Given the description of an element on the screen output the (x, y) to click on. 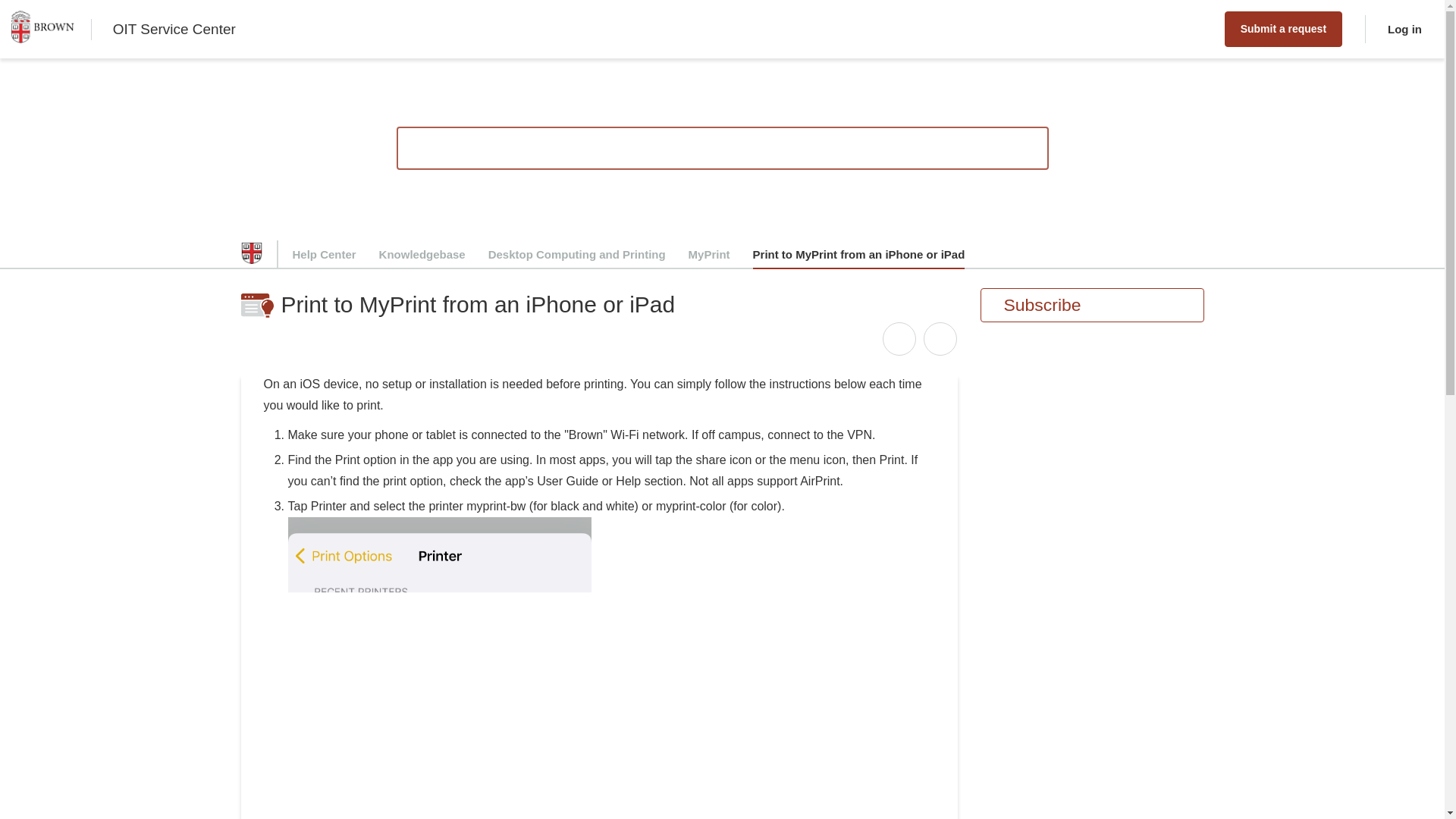
Submit a request (1283, 28)
MyPrint (709, 254)
Subscribe (1091, 305)
Knowledgebase (421, 254)
Desktop Computing and Printing (576, 254)
OIT Service Center (174, 29)
Help Center (324, 254)
Print to MyPrint from an iPhone or iPad (858, 254)
Log in (1398, 29)
